Given the description of an element on the screen output the (x, y) to click on. 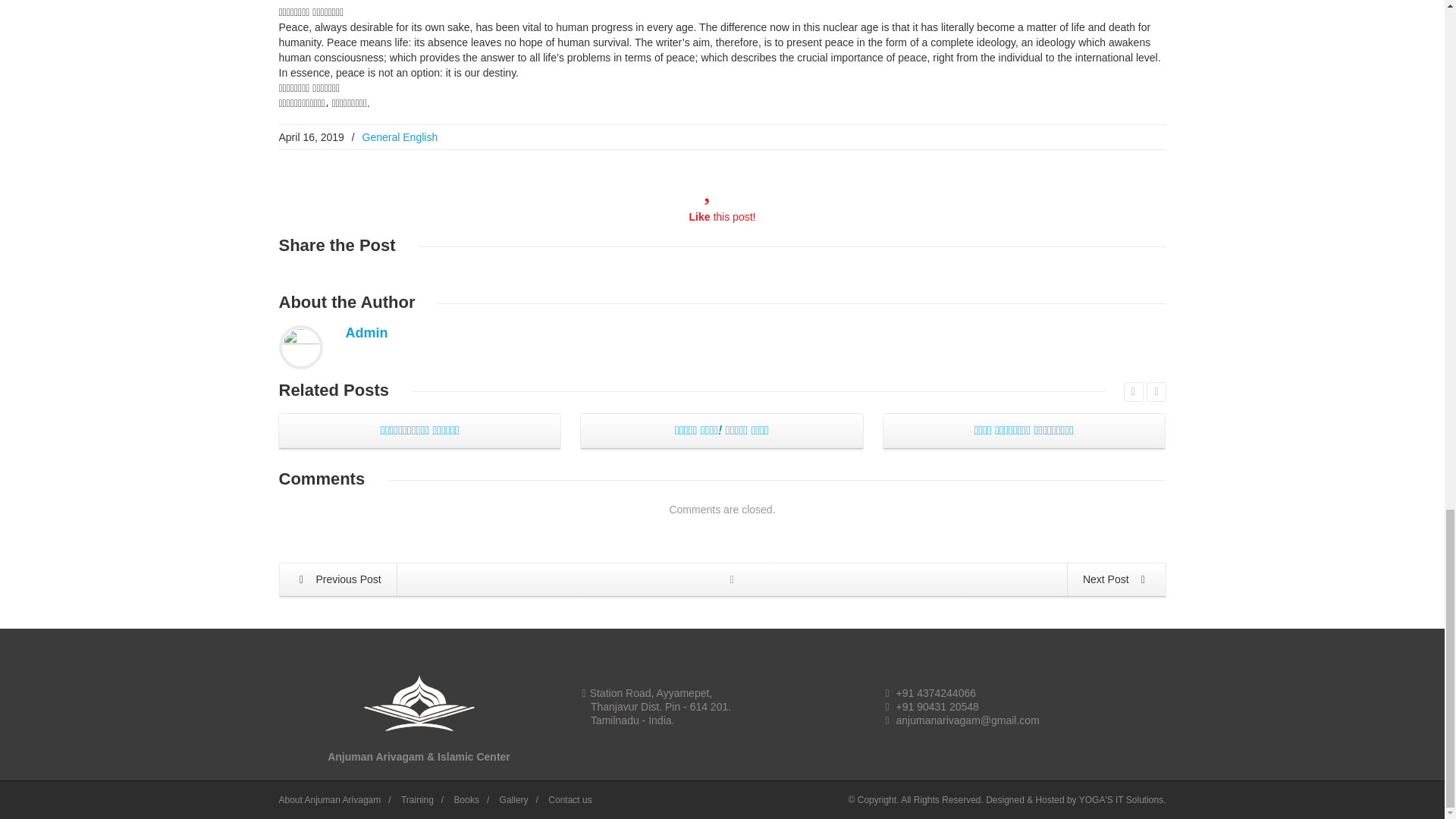
Go to the blog page (732, 579)
Like this (721, 216)
Author's Posts (367, 332)
